Given the description of an element on the screen output the (x, y) to click on. 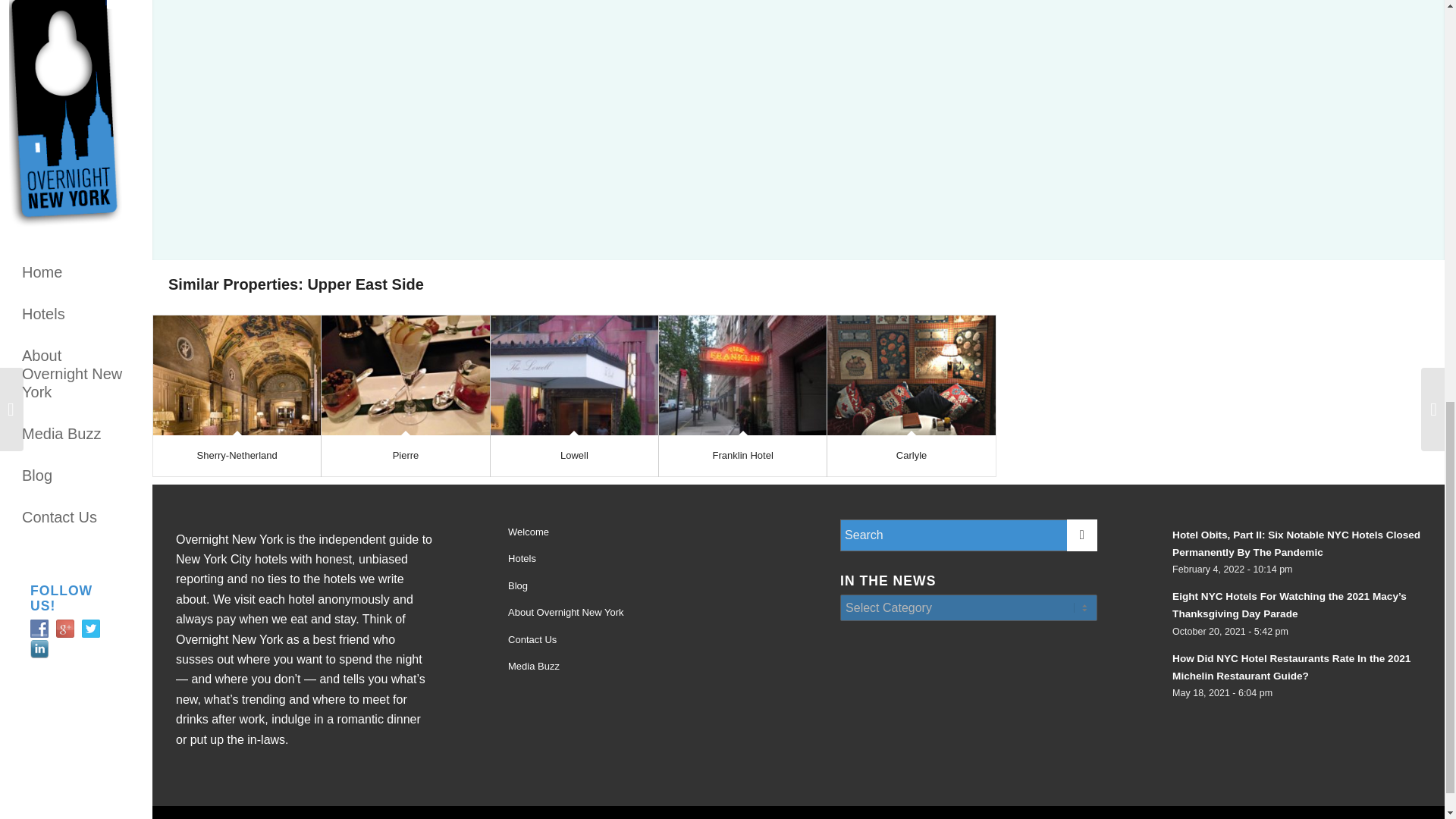
Sherry-Netherland (237, 455)
Pierre (406, 455)
